Given the description of an element on the screen output the (x, y) to click on. 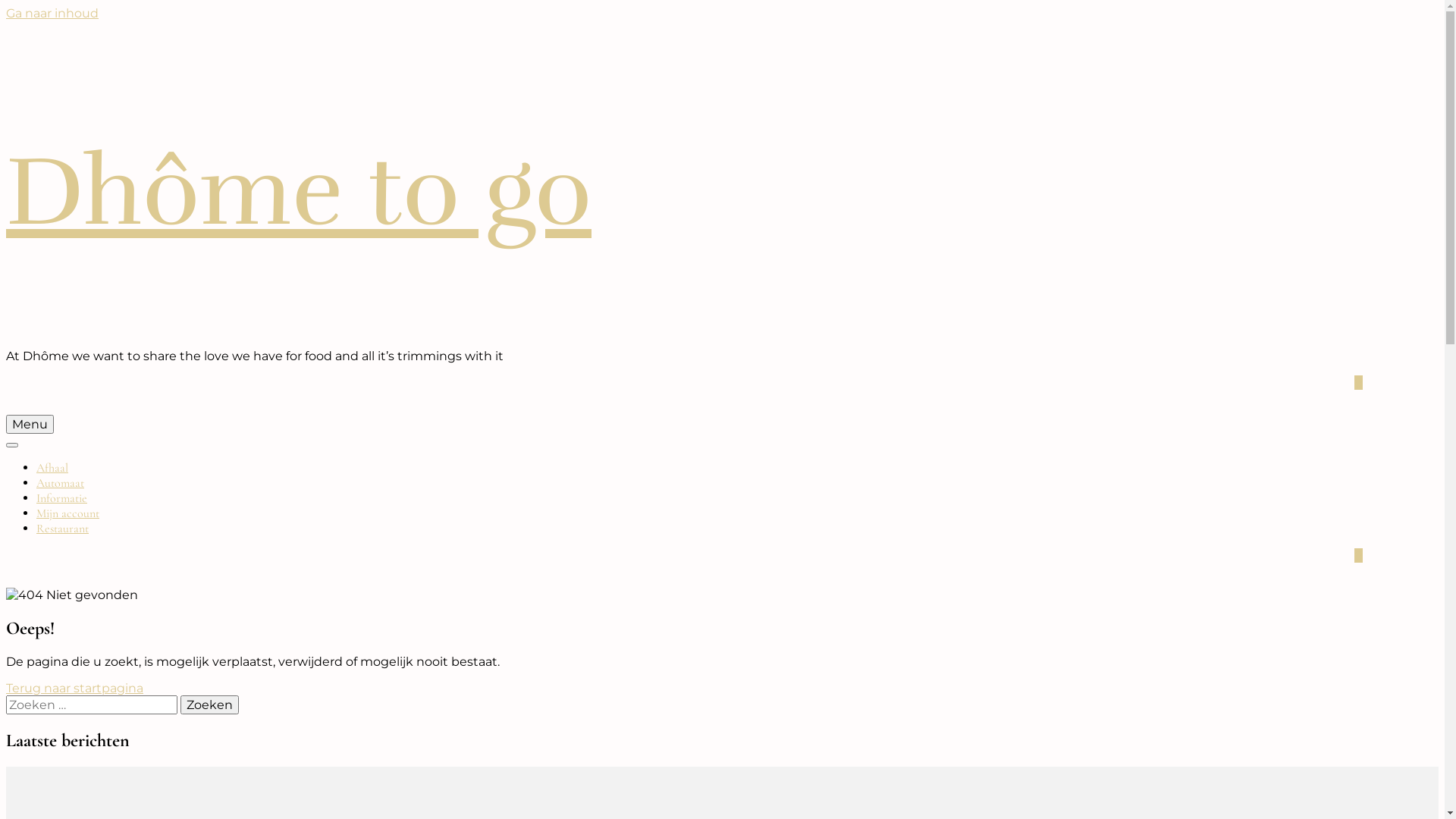
Automaat Element type: text (60, 482)
Restaurant Element type: text (62, 528)
Zoeken Element type: text (209, 704)
0 Element type: text (1358, 555)
Mijn account Element type: text (67, 512)
0 Element type: text (1358, 382)
Terug naar startpagina Element type: text (74, 687)
Ga naar inhoud Element type: text (52, 13)
Afhaal Element type: text (52, 467)
Informatie Element type: text (61, 497)
Menu Element type: text (29, 423)
